Given the description of an element on the screen output the (x, y) to click on. 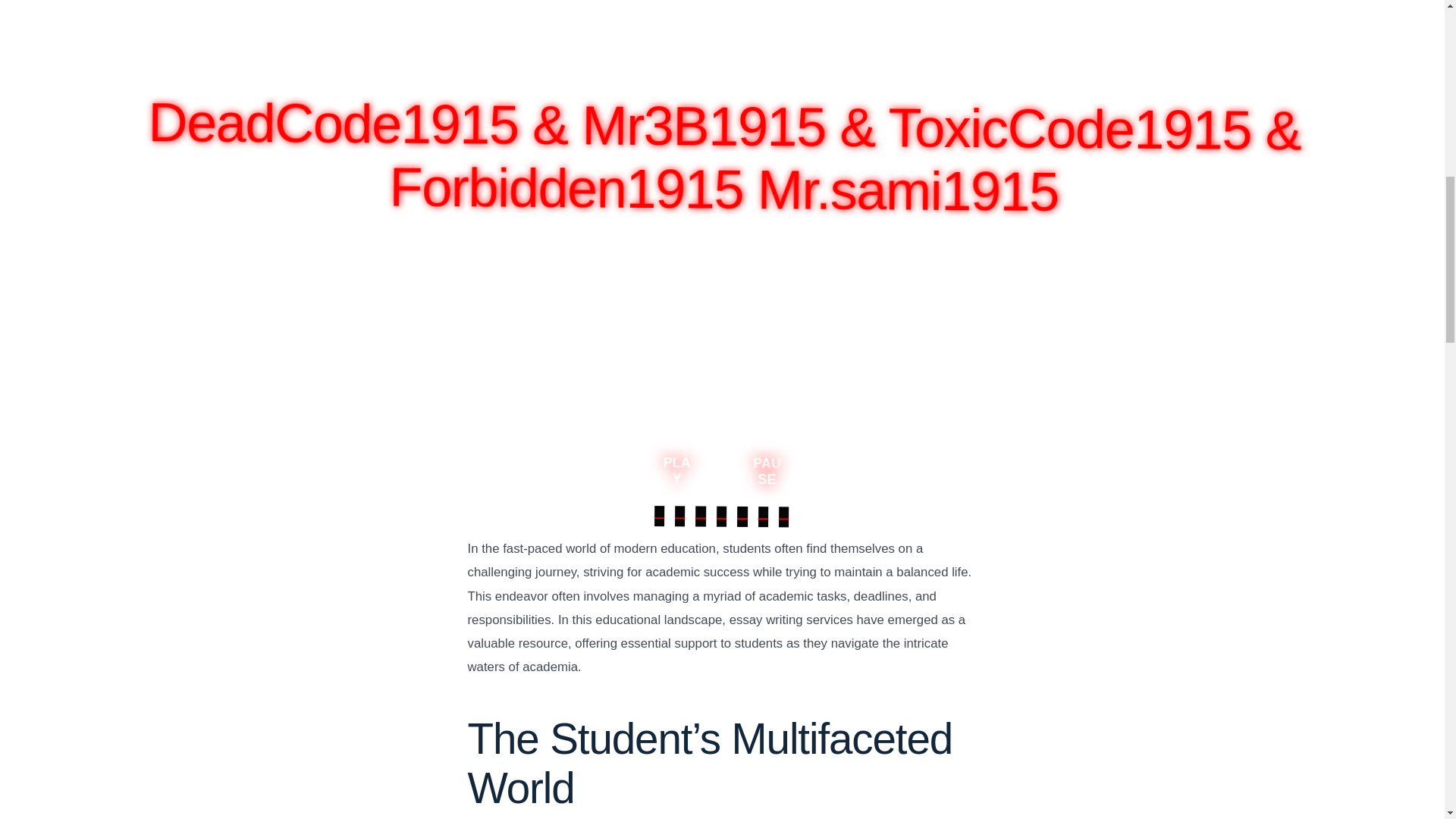
PLAY (678, 464)
PAUSE (768, 464)
